Given the description of an element on the screen output the (x, y) to click on. 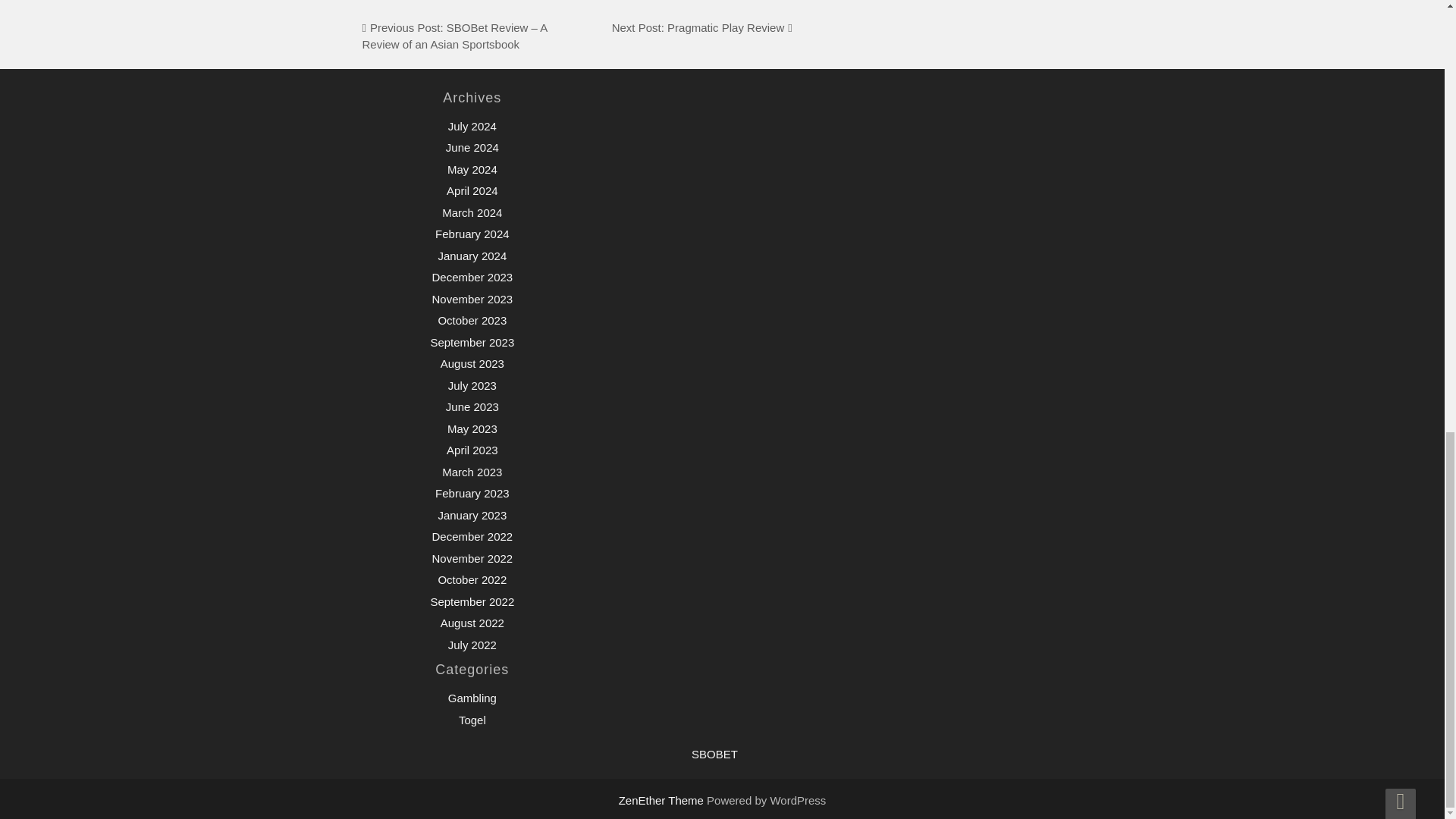
April 2023 (471, 449)
November 2022 (471, 558)
May 2024 (471, 169)
February 2024 (472, 233)
December 2023 (471, 277)
January 2023 (472, 514)
October 2023 (472, 319)
September 2023 (471, 341)
August 2023 (472, 363)
July 2023 (472, 385)
March 2023 (472, 472)
April 2024 (471, 190)
January 2024 (472, 255)
August 2022 (472, 622)
July 2024 (472, 125)
